Given the description of an element on the screen output the (x, y) to click on. 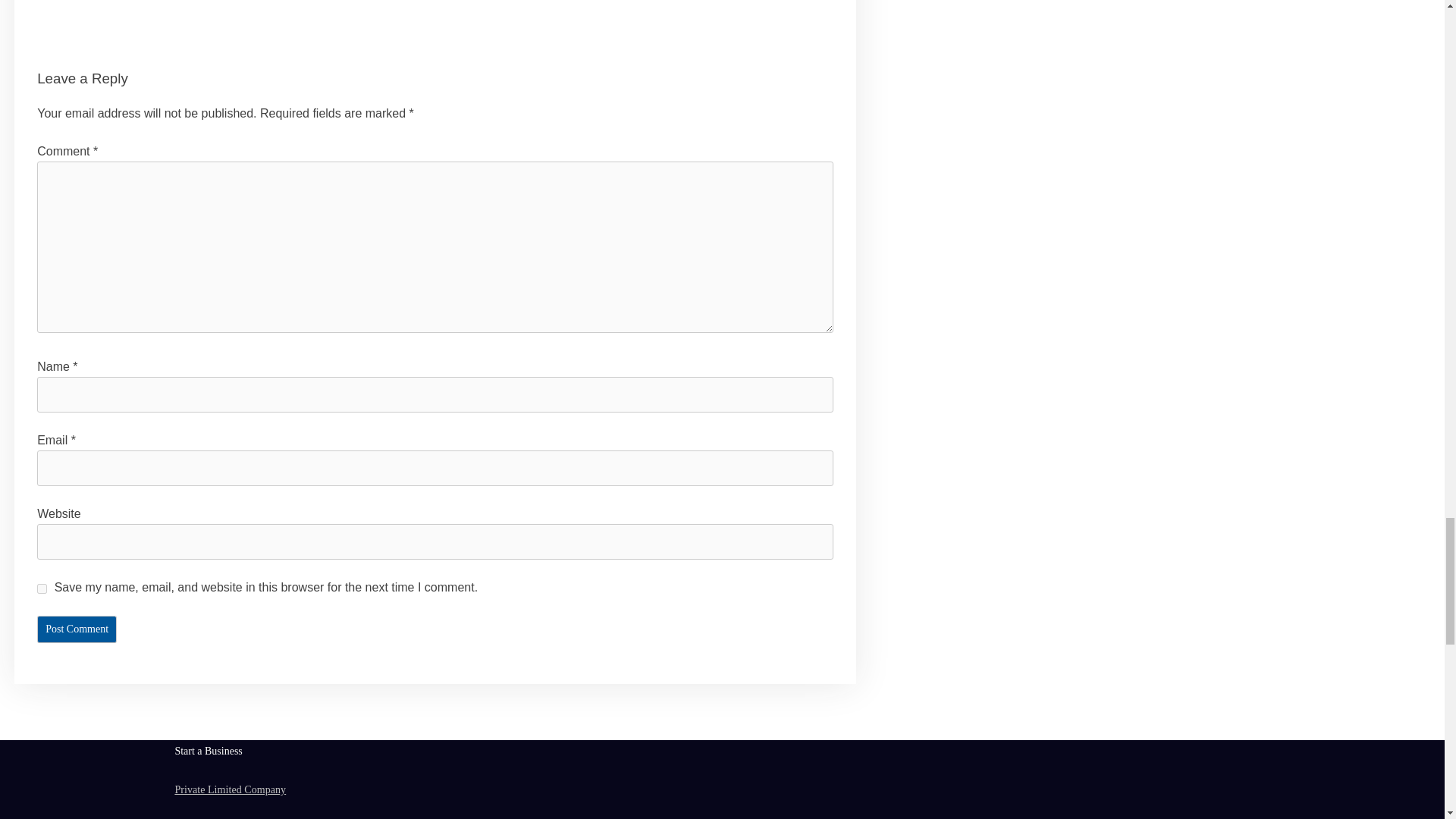
Post Comment (76, 628)
yes (41, 588)
